Given the description of an element on the screen output the (x, y) to click on. 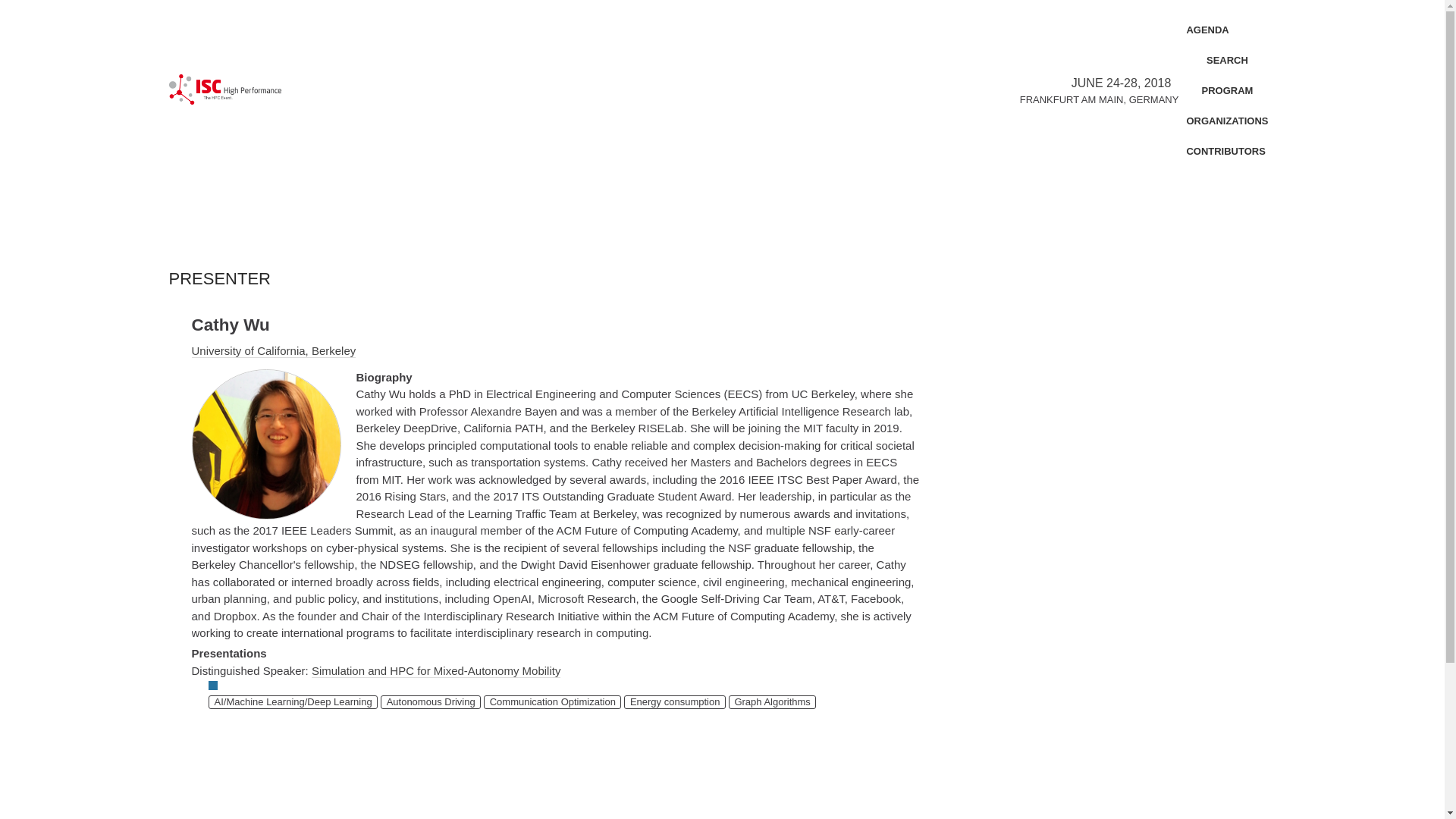
SEARCH PROGRAM (1227, 75)
Simulation and HPC for Mixed-Autonomy Mobility (435, 671)
AGENDA (1207, 30)
University of California, Berkeley (272, 350)
ORGANIZATIONS (1227, 121)
CONTRIBUTORS (1225, 151)
JUNE 24-28, 2018 (1121, 82)
Conference Pass (212, 685)
